Given the description of an element on the screen output the (x, y) to click on. 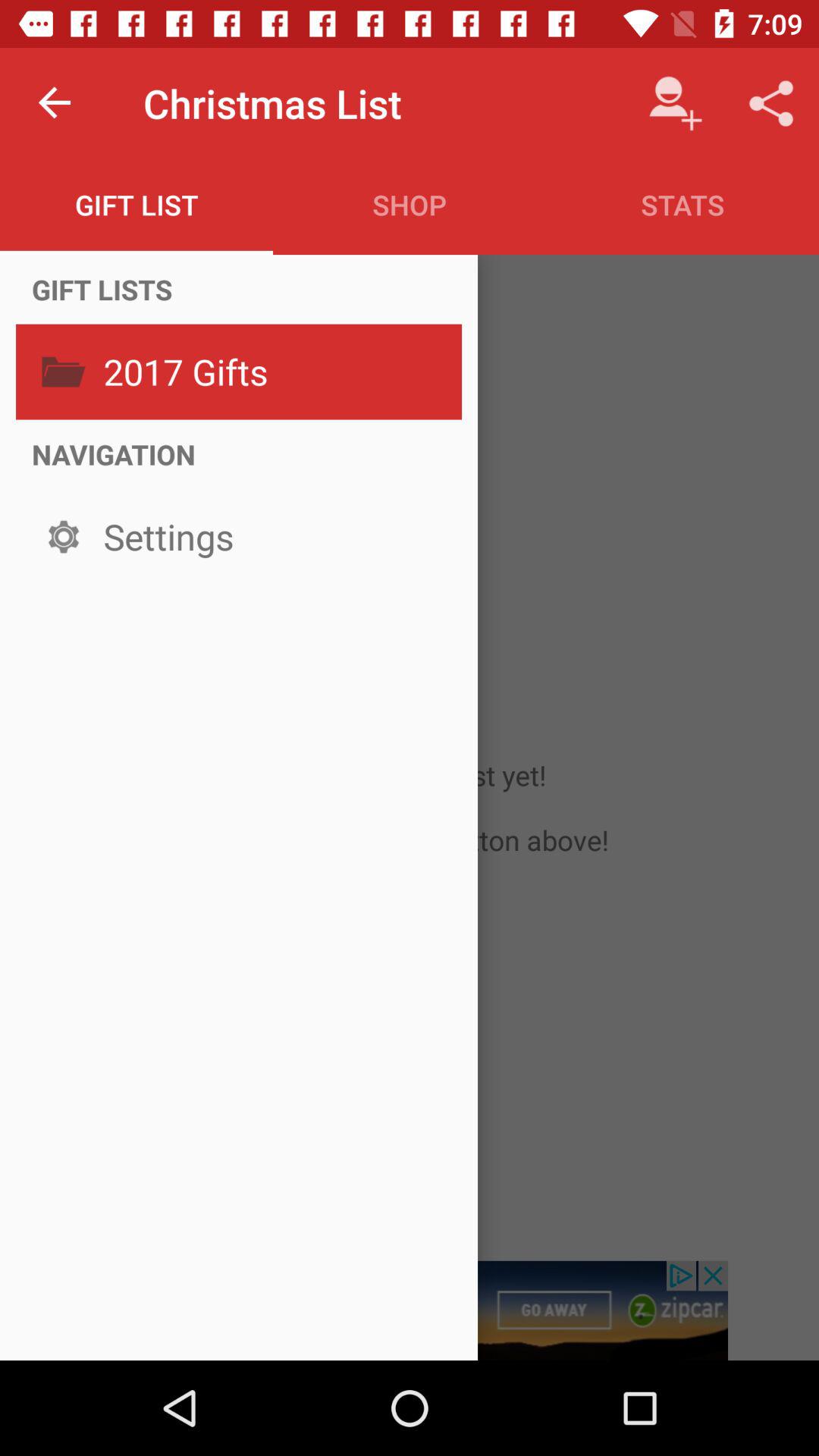
launch the icon next to stats icon (409, 204)
